Given the description of an element on the screen output the (x, y) to click on. 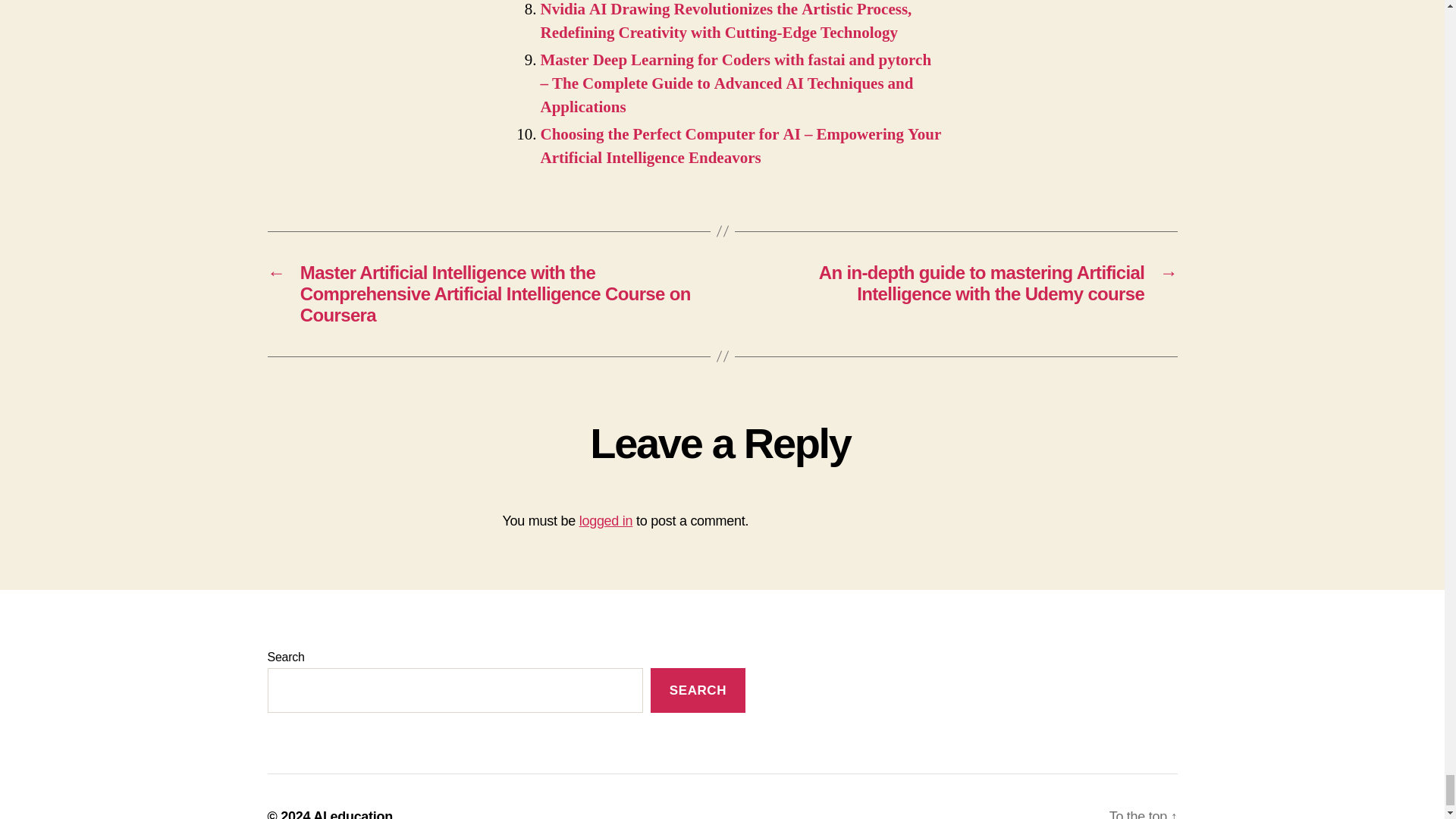
AI education (353, 814)
SEARCH (697, 690)
logged in (606, 520)
